Given the description of an element on the screen output the (x, y) to click on. 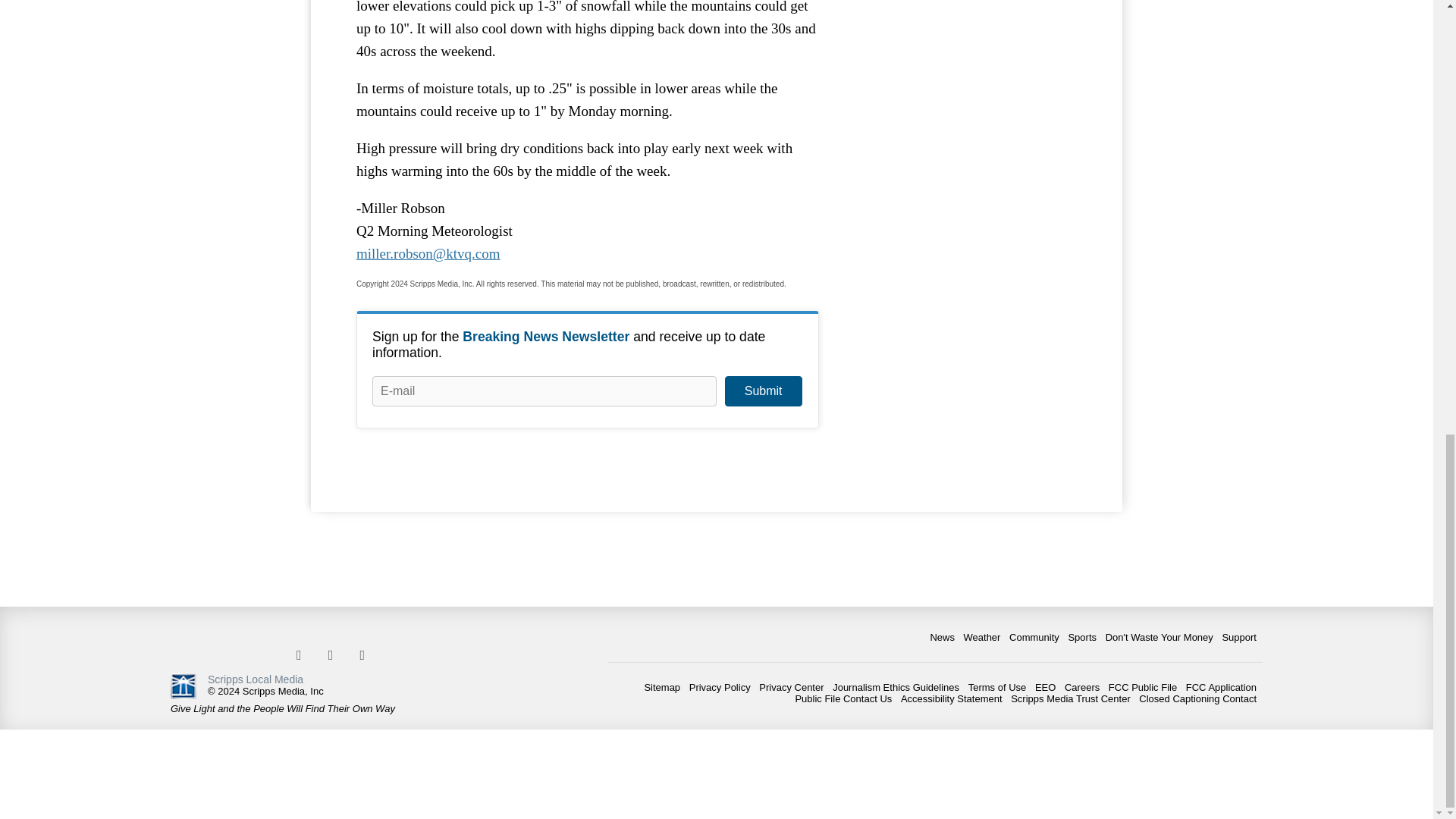
Submit (763, 390)
